Given the description of an element on the screen output the (x, y) to click on. 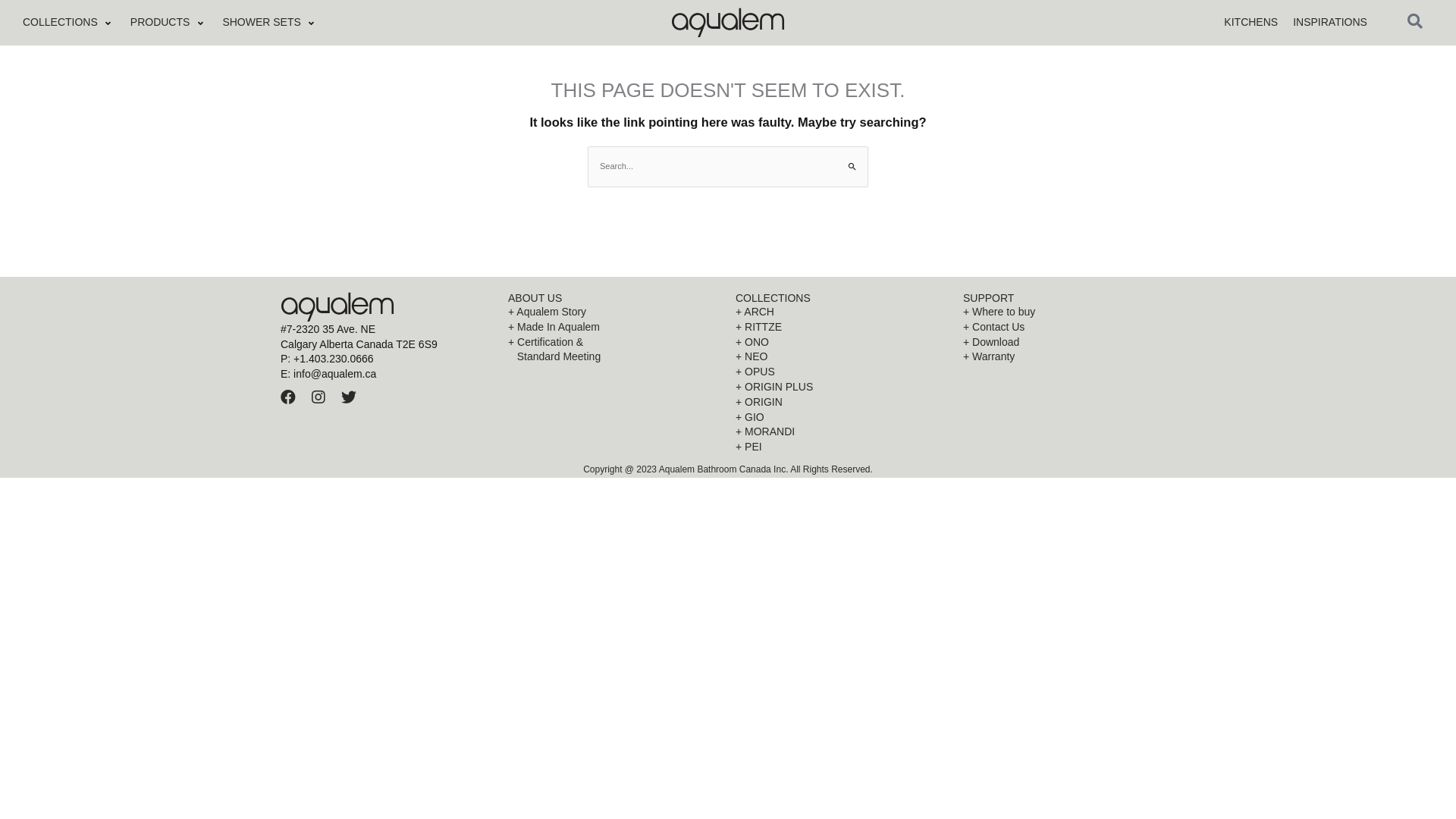
+ PEI Element type: text (841, 447)
+ MORANDI Element type: text (841, 431)
+ ARCH Element type: text (841, 312)
+ NEO Element type: text (841, 356)
+ OPUS Element type: text (841, 371)
KITCHENS Element type: text (1250, 22)
PRODUCTS Element type: text (160, 22)
+ ORIGIN PLUS Element type: text (841, 387)
+ Warranty Element type: text (1069, 356)
+ Contact Us Element type: text (1069, 327)
+ RITTZE Element type: text (841, 327)
Search Element type: text (851, 162)
P: +1.403.230.0666 Element type: text (386, 359)
+ Where to buy Element type: text (1069, 312)
+ ONO Element type: text (841, 342)
COLLECTIONS Element type: text (59, 22)
+ Certification &
   Standard Meeting Element type: text (614, 350)
+ Download Element type: text (1069, 342)
SHOWER SETS Element type: text (261, 22)
+ Aqualem Story Element type: text (614, 312)
INSPIRATIONS Element type: text (1329, 22)
+ ORIGIN Element type: text (841, 402)
+ GIO Element type: text (841, 417)
Facebook Element type: text (288, 397)
E: info@aqualem.ca Element type: text (386, 374)
+ Made In Aqualem Element type: text (614, 327)
Twitter Element type: text (348, 397)
Instagram Element type: text (318, 397)
